Given the description of an element on the screen output the (x, y) to click on. 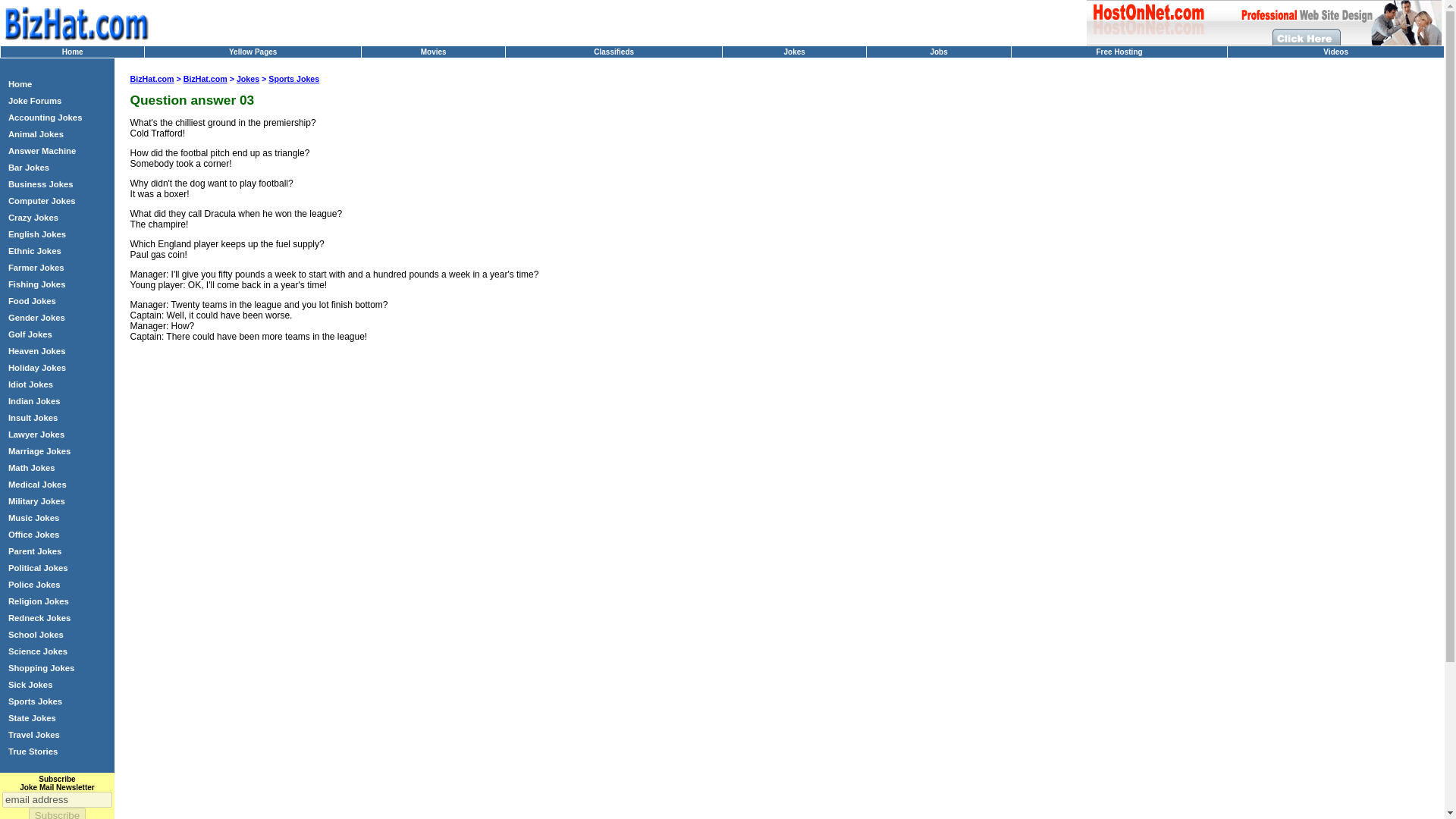
email address (57, 799)
Videos (1335, 51)
Idiot Jokes (30, 384)
Jobs (938, 51)
Medical Jokes (37, 483)
Business Jokes (41, 184)
Ethnic Jokes (34, 250)
Jokes (794, 51)
Yellow Pages (252, 51)
Food Jokes (32, 300)
Joke Forums (35, 100)
Political Jokes (38, 567)
Music Jokes (33, 517)
Parent Jokes (35, 551)
Computer Jokes (41, 200)
